Given the description of an element on the screen output the (x, y) to click on. 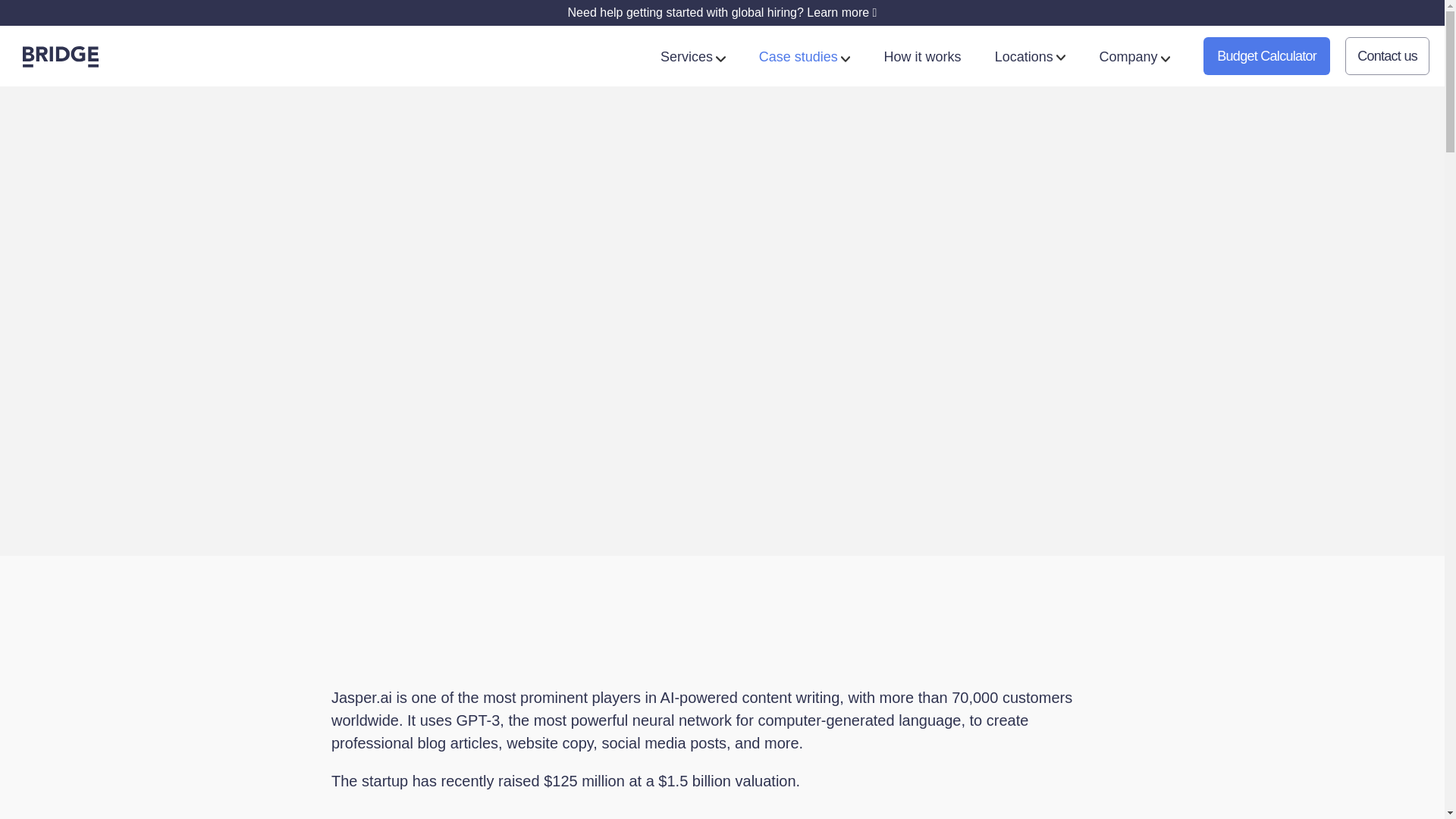
Company (1134, 56)
Services (693, 56)
Case studies (804, 56)
Locations (1029, 56)
Contact us (1387, 55)
Learn more  (841, 11)
Budget Calculator (1267, 55)
How it works (921, 56)
